Given the description of an element on the screen output the (x, y) to click on. 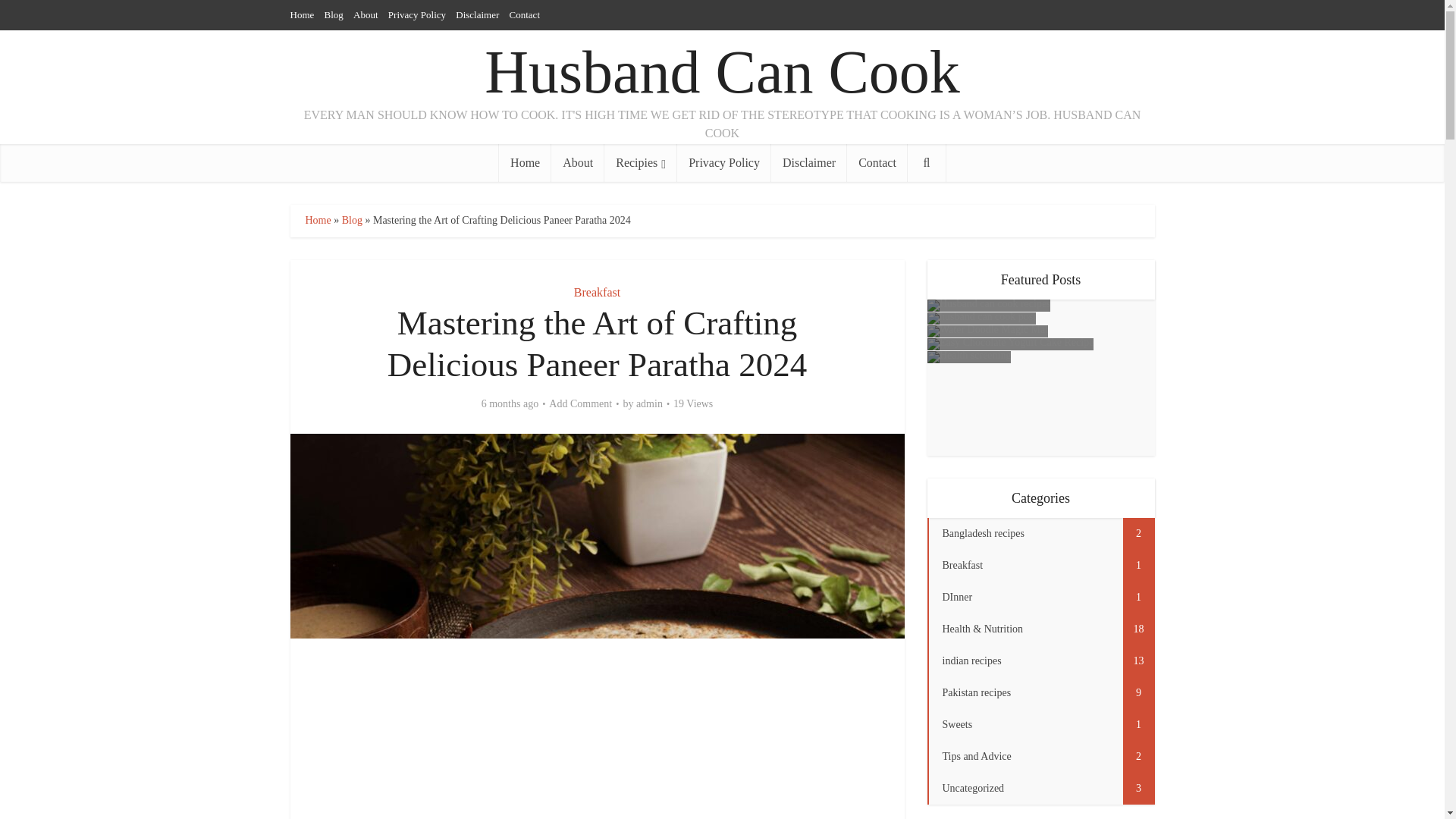
Privacy Policy (416, 14)
About (577, 162)
Recipies (640, 162)
Contact (524, 14)
The Ultimate Guide to Water Doodle Magic Mats 2023 (986, 331)
Contact (877, 162)
Privacy Policy (724, 162)
Disclaimer (477, 14)
Home (525, 162)
